Given the description of an element on the screen output the (x, y) to click on. 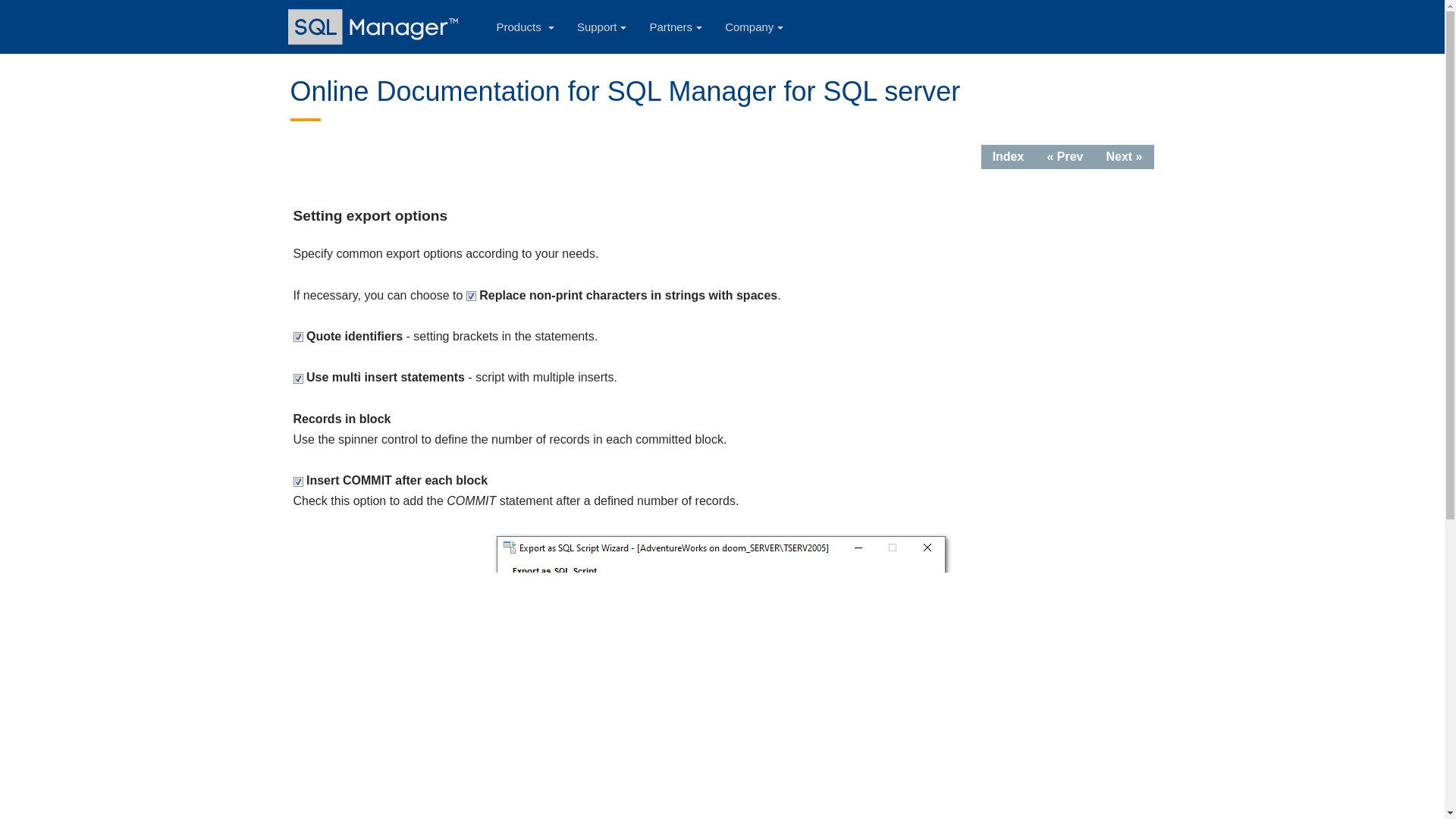
Company (753, 27)
Products (525, 27)
Partners (675, 27)
Support (602, 27)
Home (375, 27)
